Given the description of an element on the screen output the (x, y) to click on. 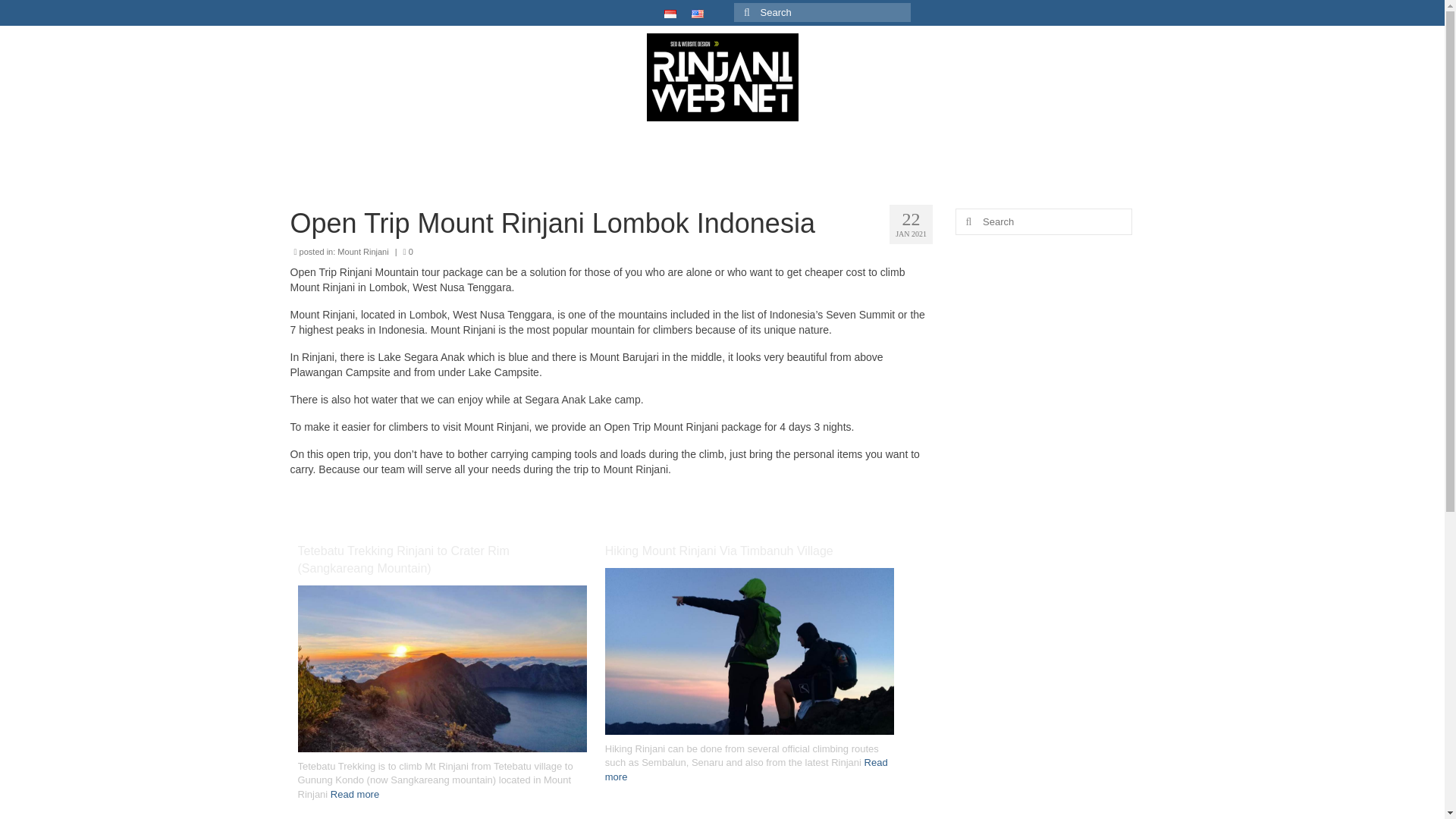
Hiking Mount Rinjani Via Timbanuh Village (749, 551)
Read more (354, 794)
Hiking Mount Rinjani Via Timbanuh Village (749, 551)
Hiking Mount Rinjani Via Timbanuh Village (749, 653)
Mount Rinjani (362, 251)
Home (360, 149)
Payment (788, 149)
Contact (503, 149)
Rinjani Price (646, 149)
Read more (746, 769)
